Given the description of an element on the screen output the (x, y) to click on. 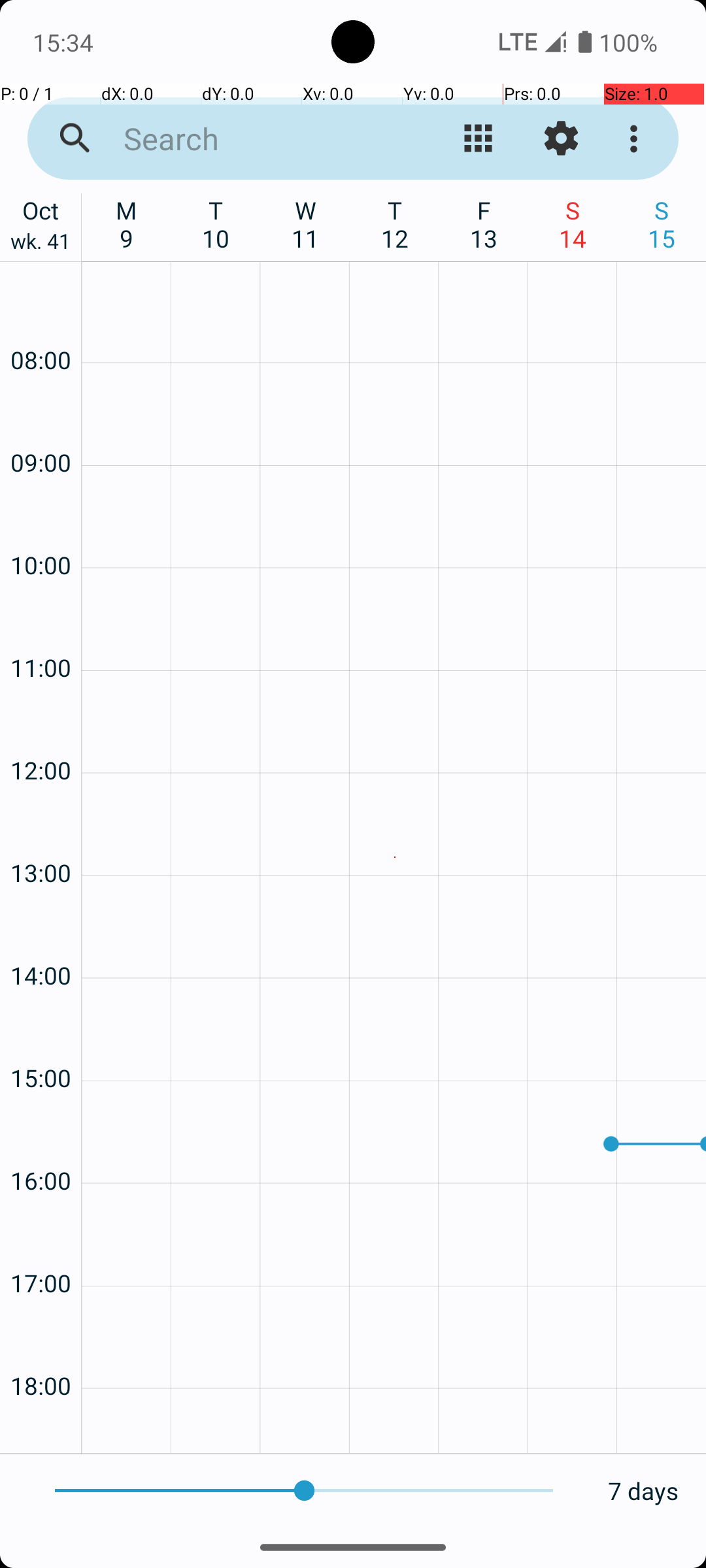
wk. 41 Element type: android.widget.TextView (40, 243)
19:00 Element type: android.widget.TextView (40, 1428)
M
9 Element type: android.widget.TextView (126, 223)
T
10 Element type: android.widget.TextView (215, 223)
W
11 Element type: android.widget.TextView (305, 223)
T
12 Element type: android.widget.TextView (394, 223)
F
13 Element type: android.widget.TextView (483, 223)
S
14 Element type: android.widget.TextView (572, 223)
